Given the description of an element on the screen output the (x, y) to click on. 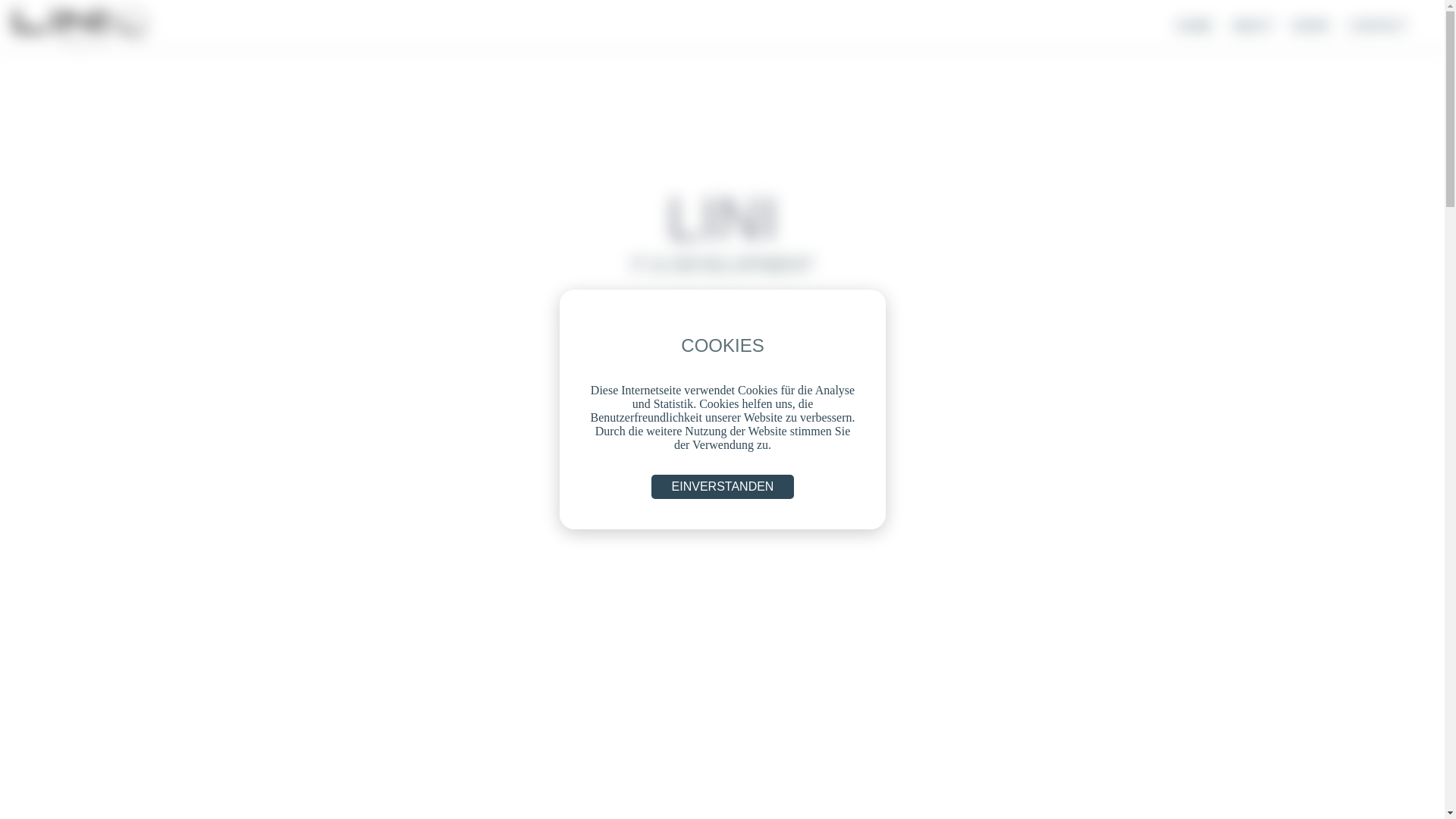
EINVERSTANDEN Element type: text (721, 486)
Icon made by Freepik from www.flaticon.com Element type: hover (79, 23)
